Given the description of an element on the screen output the (x, y) to click on. 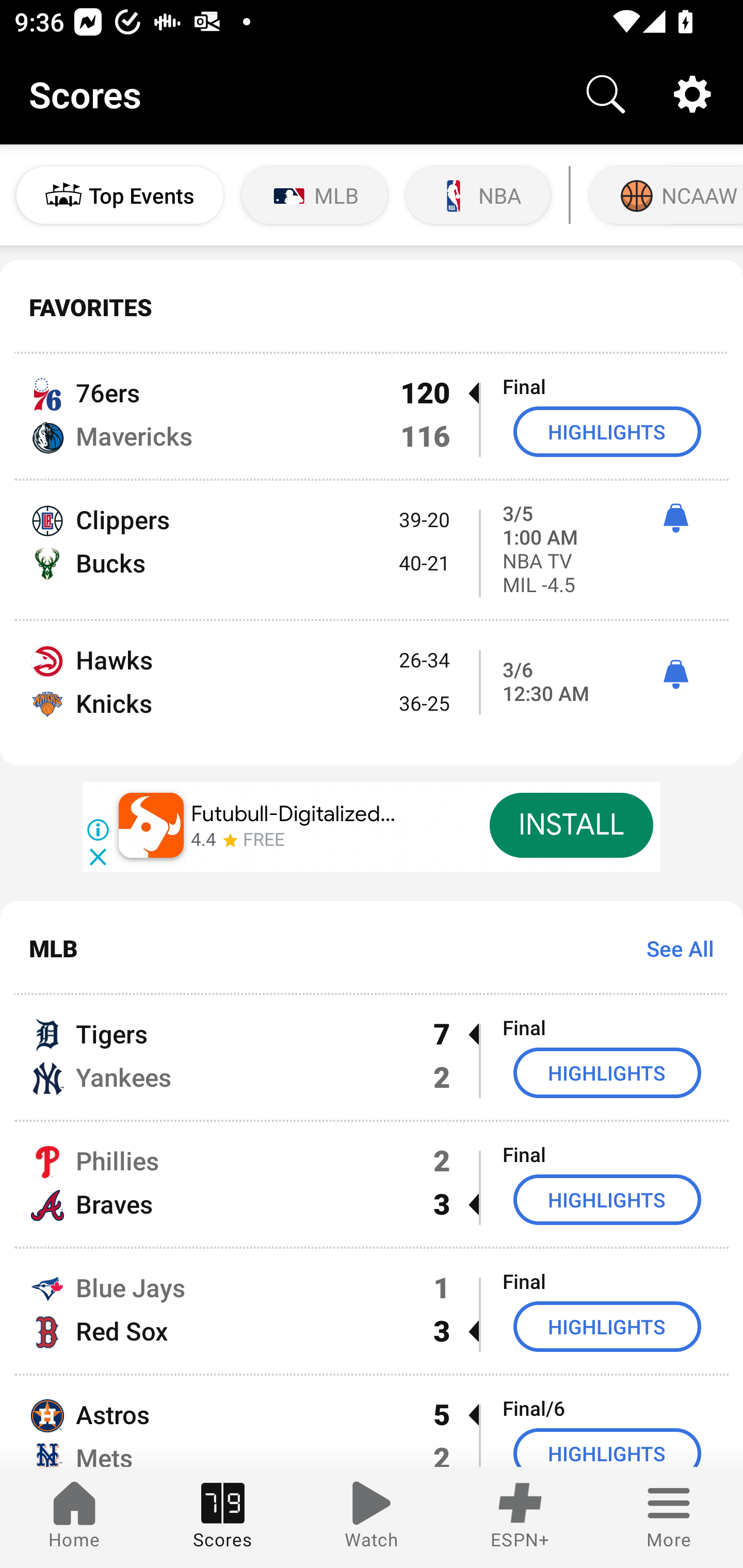
Search (605, 93)
Settings (692, 93)
 Top Events (119, 194)
MLB (314, 194)
NBA (477, 194)
NCAAW (664, 194)
FAVORITES (371, 307)
76ers 120  Final Mavericks 116 HIGHLIGHTS (371, 416)
HIGHLIGHTS (607, 431)
ì (675, 517)
Hawks 26-34 Knicks 36-25 3/6 12:30 AM ì (371, 692)
ì (675, 674)
INSTALL (570, 825)
Futubull-Digitalized… (293, 814)
MLB See All (371, 948)
See All (673, 947)
Tigers 7  Final Yankees 2 HIGHLIGHTS (371, 1057)
HIGHLIGHTS (607, 1072)
Phillies 2 Final Braves 3  HIGHLIGHTS (371, 1183)
HIGHLIGHTS (607, 1199)
Blue Jays 1 Final Red Sox 3  HIGHLIGHTS (371, 1310)
HIGHLIGHTS (607, 1326)
Astros 5  Final/6 Mets 2 HIGHLIGHTS (371, 1421)
HIGHLIGHTS (607, 1447)
Home (74, 1517)
Watch (371, 1517)
ESPN+ (519, 1517)
More (668, 1517)
